Given the description of an element on the screen output the (x, y) to click on. 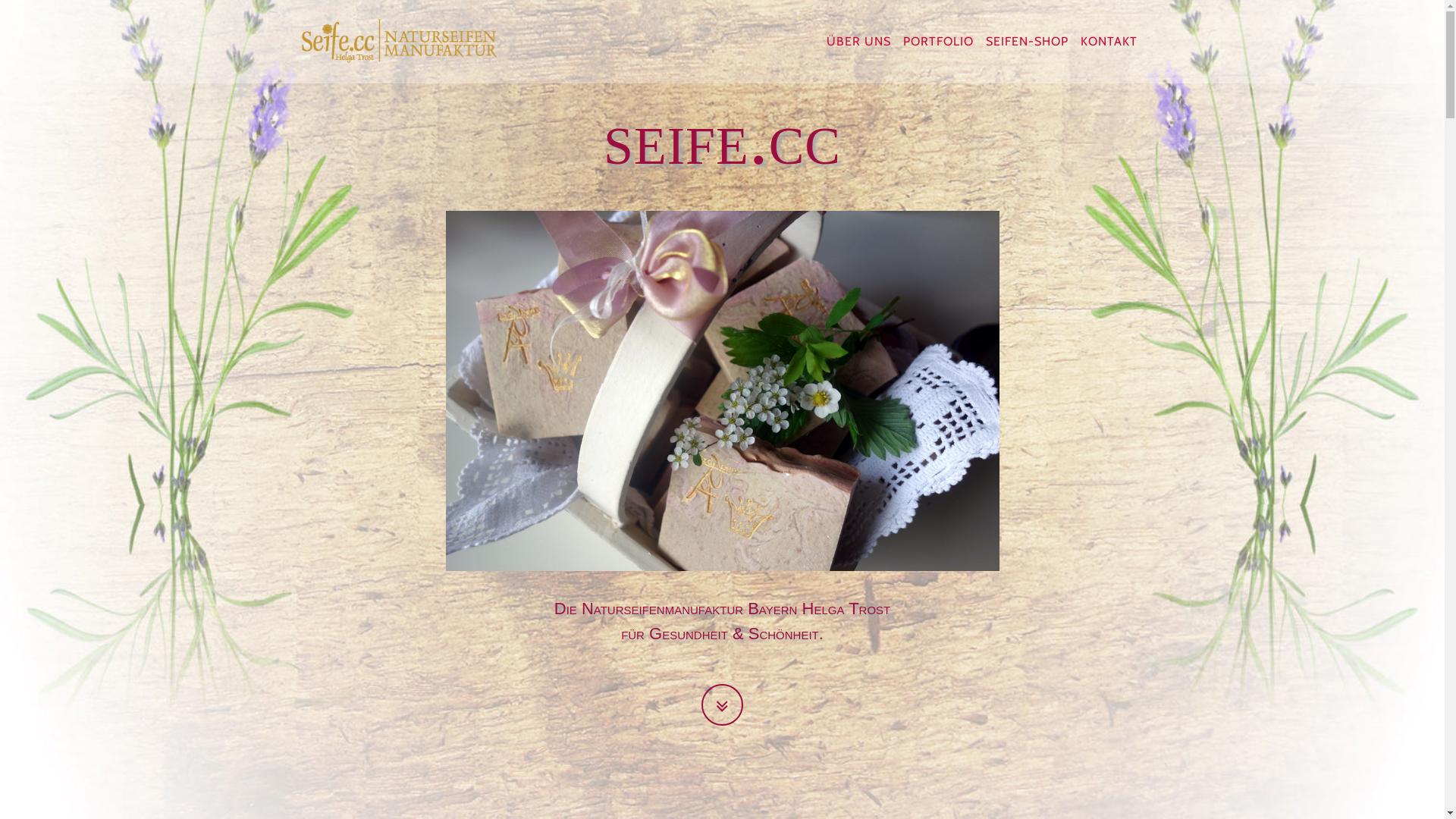
SEIFEN-SHOP Element type: text (1026, 41)
PORTFOLIO Element type: text (937, 41)
KONTAKT Element type: text (1107, 41)
